Given the description of an element on the screen output the (x, y) to click on. 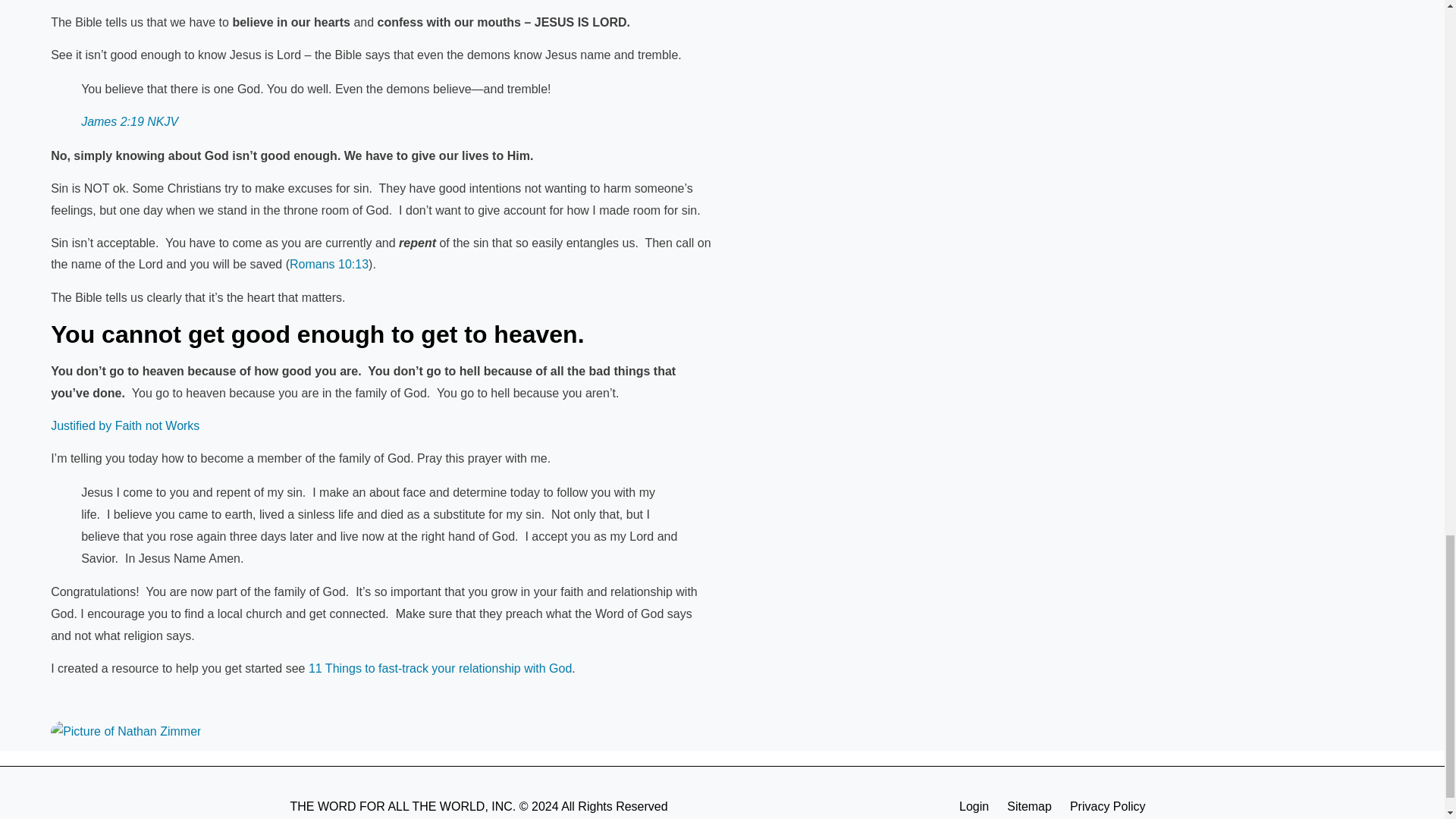
Privacy Policy (1107, 806)
James 2:19 NKJV (129, 121)
Login (973, 806)
Romans 10:13 (328, 264)
Justified by Faith not Works (124, 425)
Sitemap (1029, 806)
11 Things to fast-track your relationship with God (440, 667)
